Given the description of an element on the screen output the (x, y) to click on. 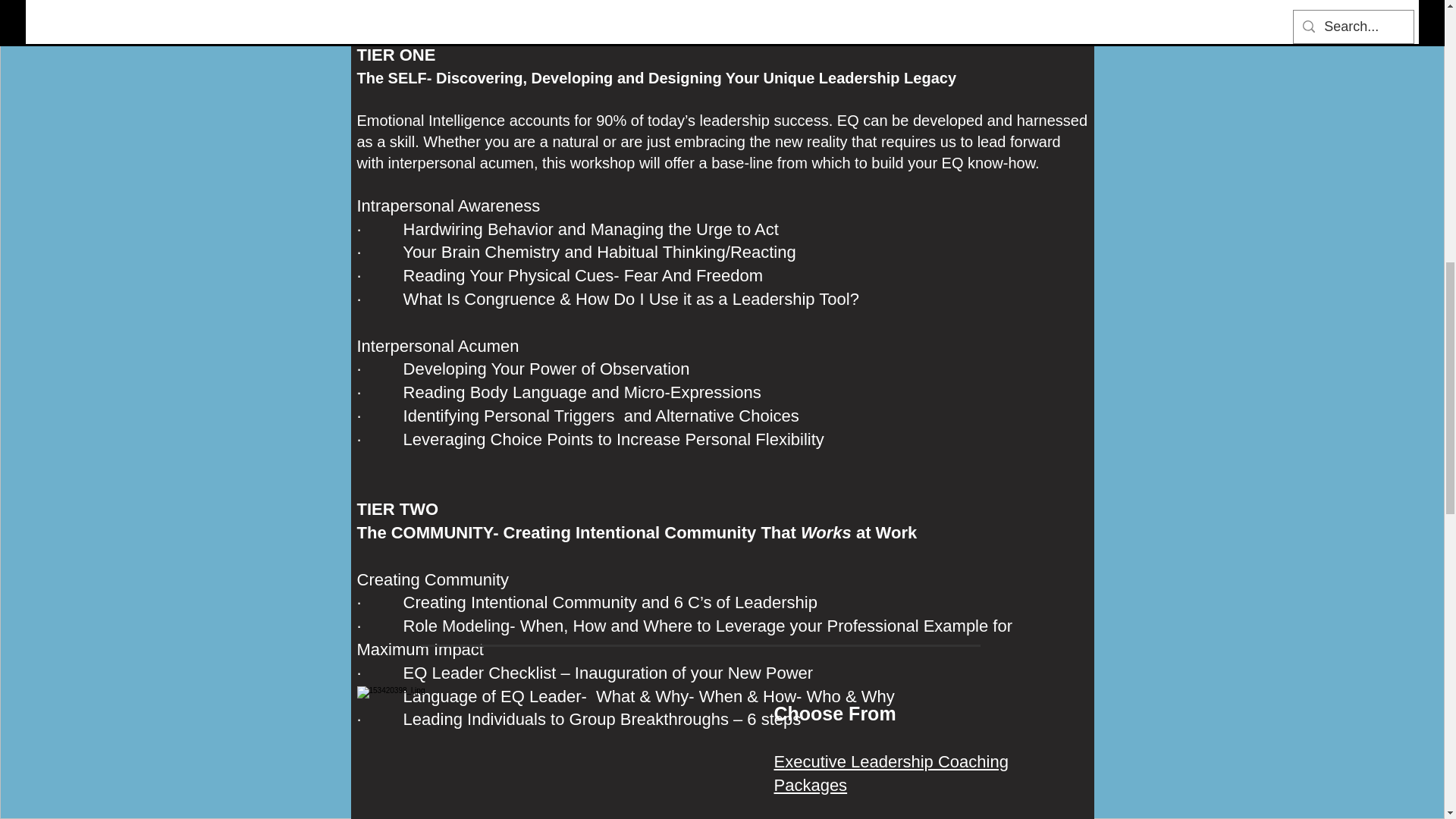
passive-agressive-sayings.jpg (539, 752)
Executive Leadership Coaching Packages (890, 773)
